Given the description of an element on the screen output the (x, y) to click on. 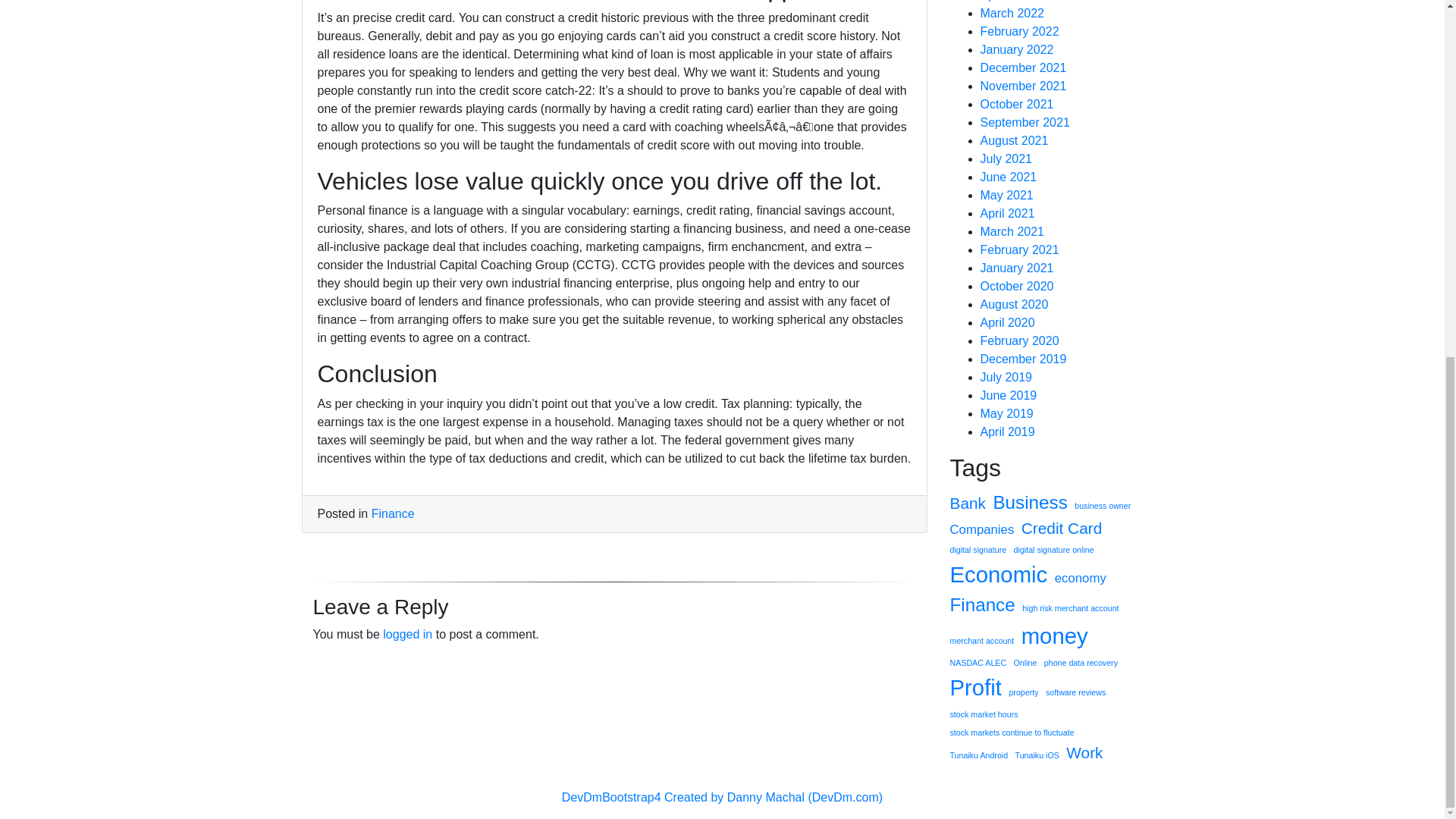
January 2021 (1015, 267)
August 2021 (1013, 140)
February 2021 (1018, 249)
November 2021 (1022, 85)
July 2021 (1005, 158)
October 2021 (1015, 103)
August 2020 (1013, 304)
December 2021 (1022, 67)
September 2021 (1023, 122)
May 2021 (1005, 195)
